Given the description of an element on the screen output the (x, y) to click on. 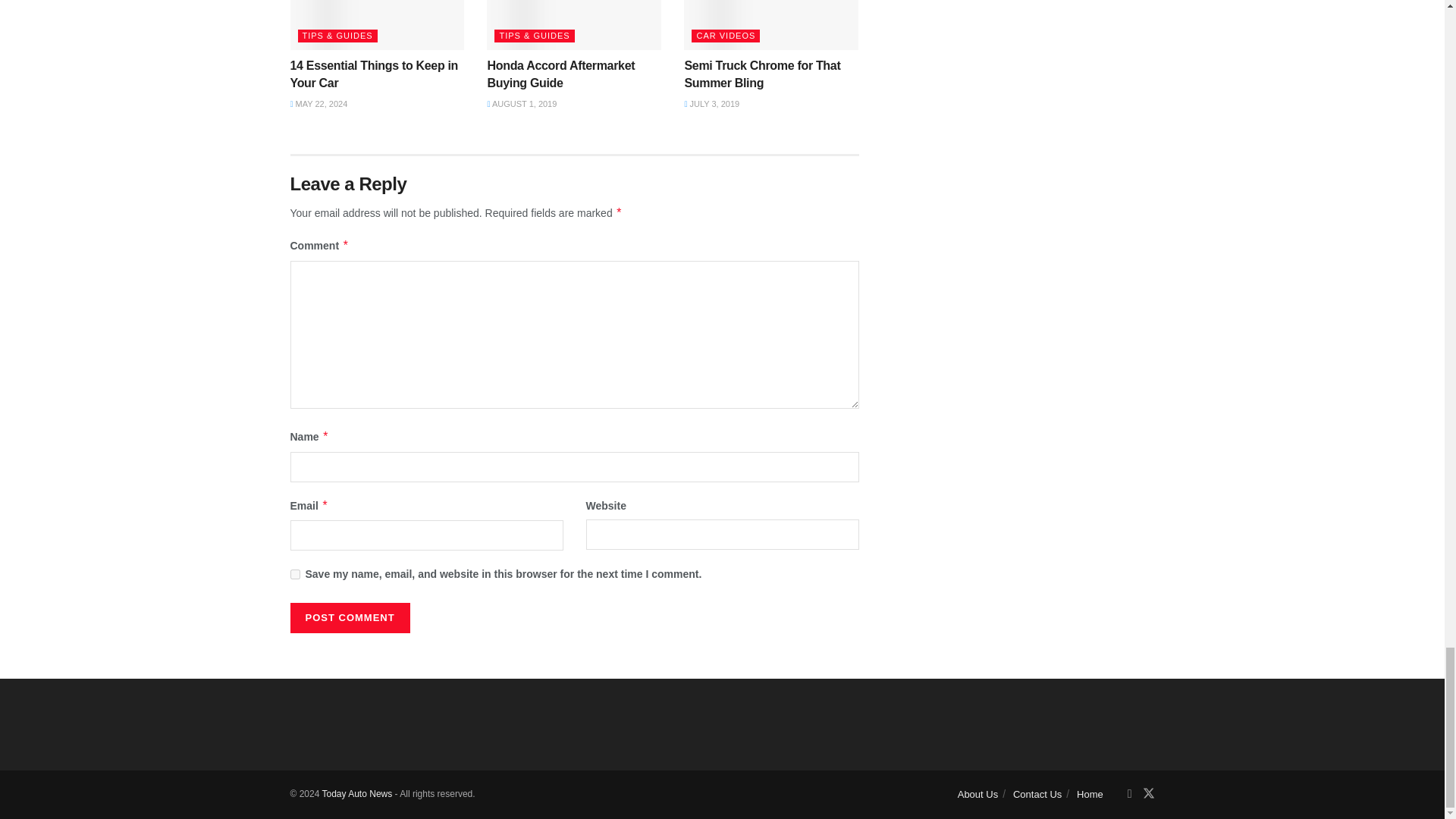
Post Comment (349, 617)
Today Auto News (356, 793)
yes (294, 574)
